Given the description of an element on the screen output the (x, y) to click on. 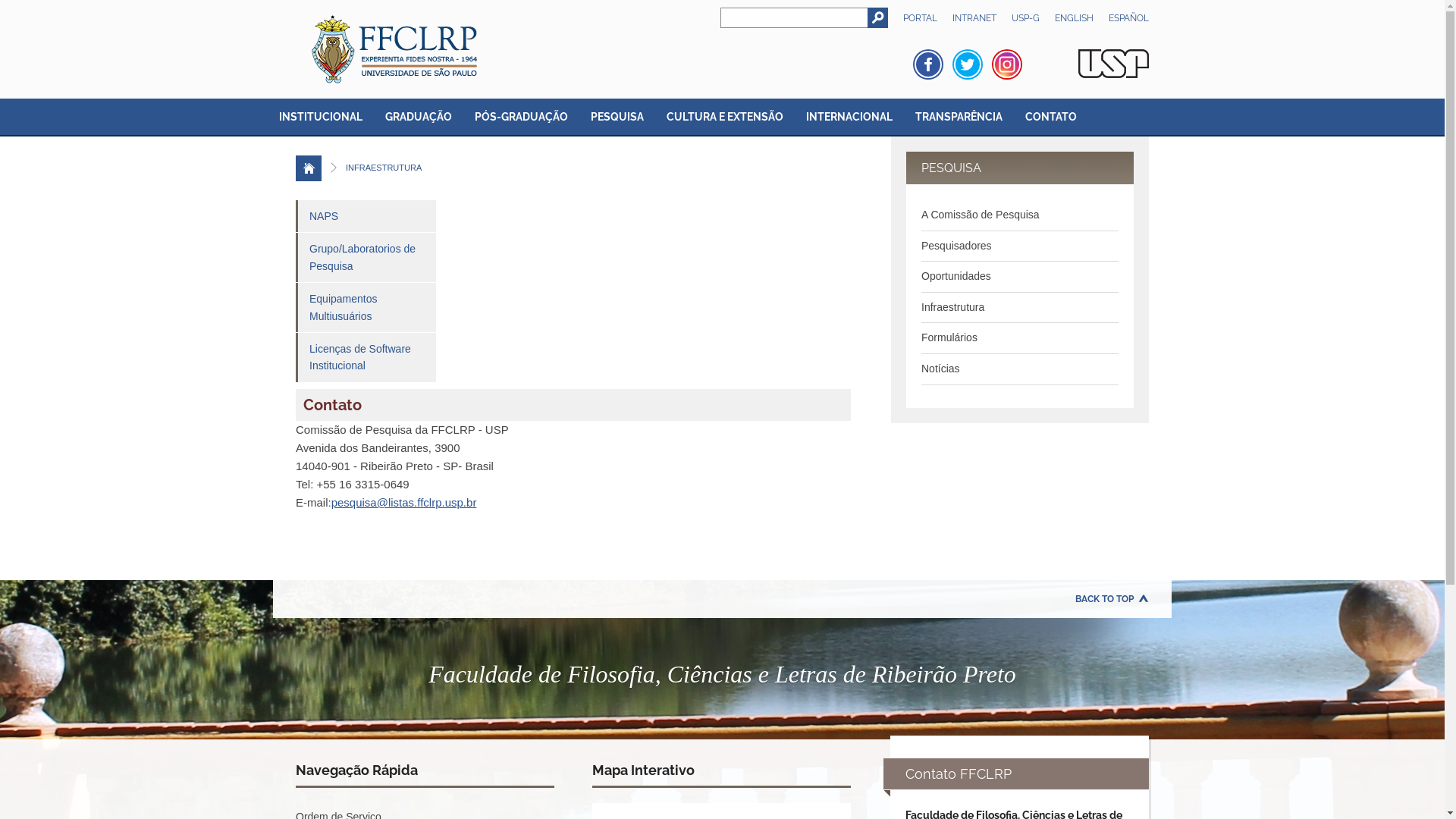
INSTITUCIONAL Element type: text (319, 117)
Pesquisadores Element type: text (956, 245)
NAPS Element type: text (365, 216)
Instagram Element type: text (1006, 64)
INTRANET Element type: text (974, 17)
Infraestrutura Element type: text (952, 307)
Facebook Element type: text (927, 64)
ENGLISH Element type: text (1073, 17)
CONTATO Element type: text (1050, 117)
BACK TO TOP Element type: text (1111, 598)
PESQUISA Element type: text (617, 117)
Oportunidades Element type: text (956, 275)
USP-G Element type: text (1025, 17)
PORTAL Element type: text (920, 17)
Pesquisar Element type: text (877, 17)
INTERNACIONAL Element type: text (848, 117)
Twitter Element type: text (967, 64)
pesquisa@listas.ffclrp.usp.br Element type: text (403, 501)
Grupo/Laboratorios de Pesquisa Element type: text (365, 257)
